Given the description of an element on the screen output the (x, y) to click on. 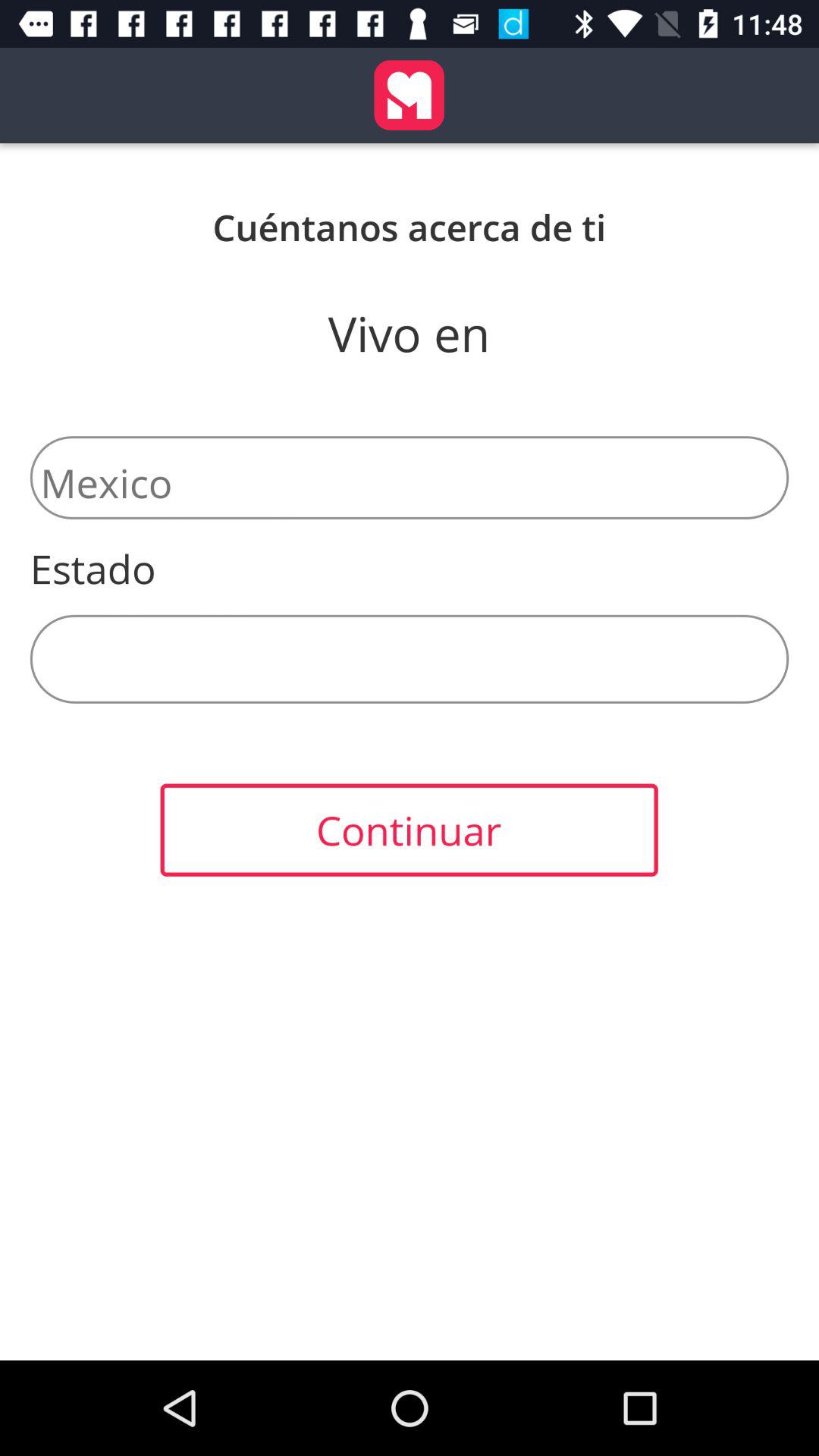
select the icon below the estado item (409, 658)
